Given the description of an element on the screen output the (x, y) to click on. 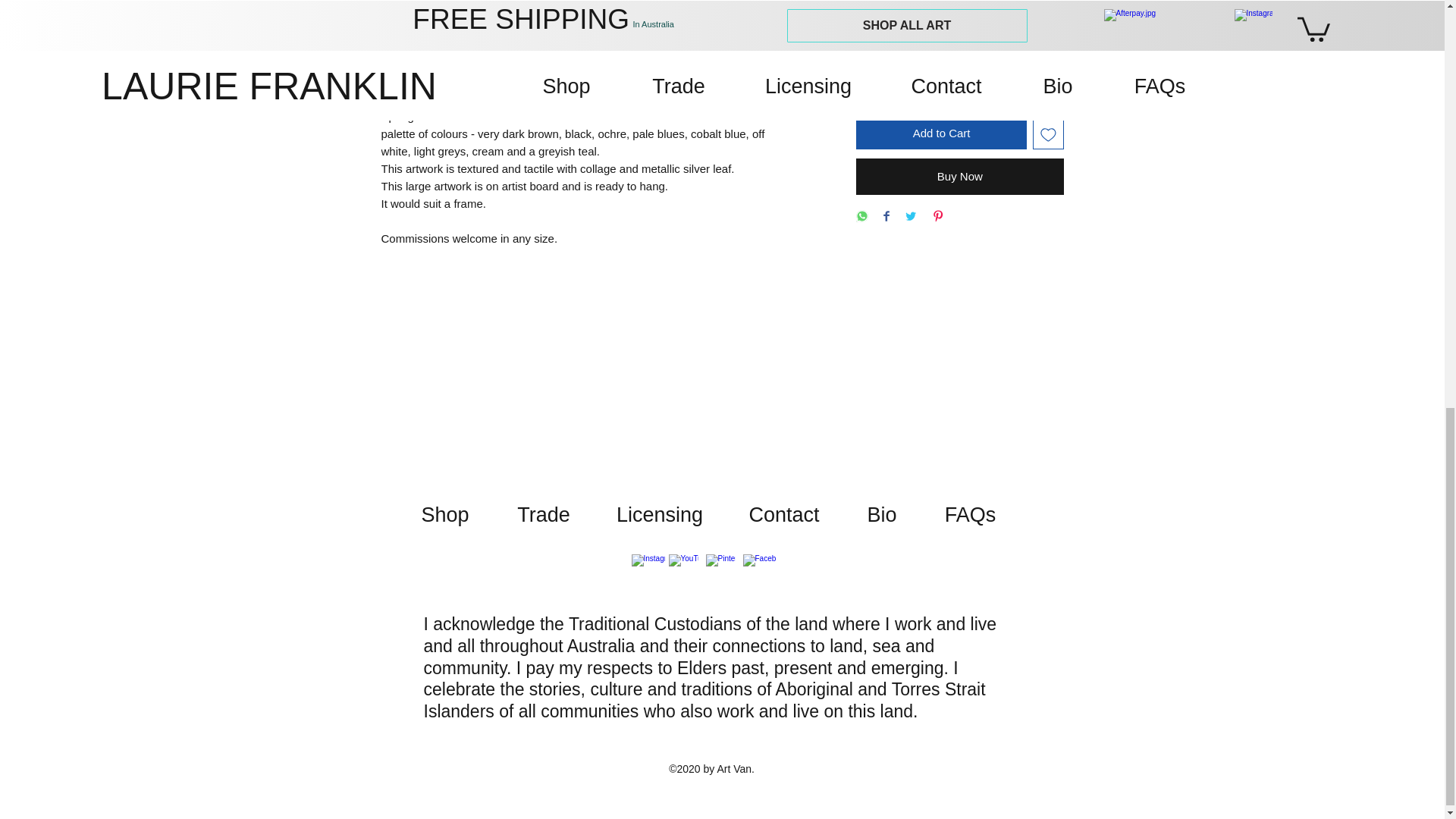
Add to Cart (941, 133)
1 (893, 78)
Shop (445, 514)
Buy Now (959, 176)
